Given the description of an element on the screen output the (x, y) to click on. 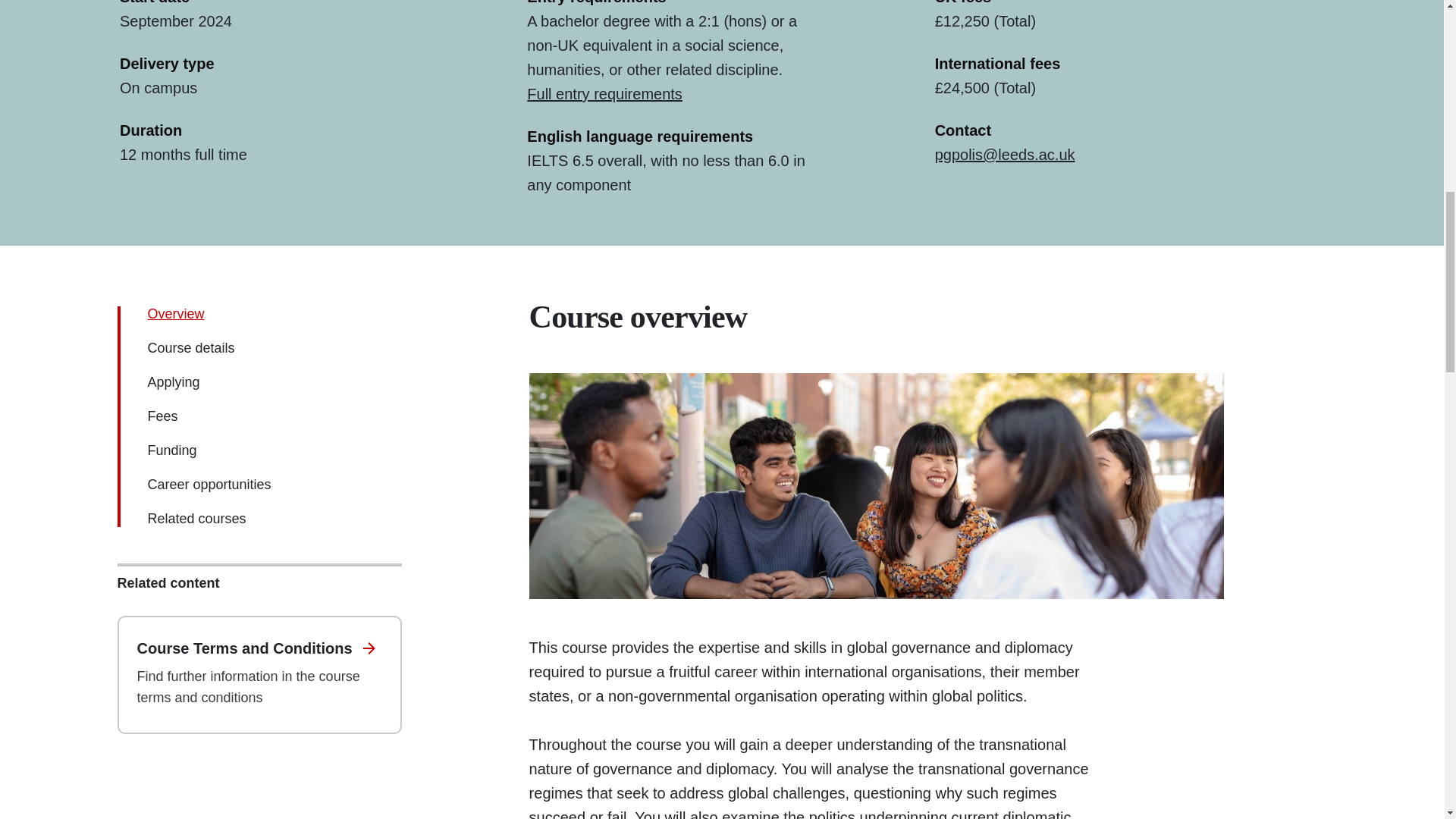
Career opportunities (208, 484)
Full entry requirements (604, 93)
Applying (173, 381)
Course details (190, 347)
Fees (162, 416)
Overview (175, 313)
Funding (171, 450)
